Given the description of an element on the screen output the (x, y) to click on. 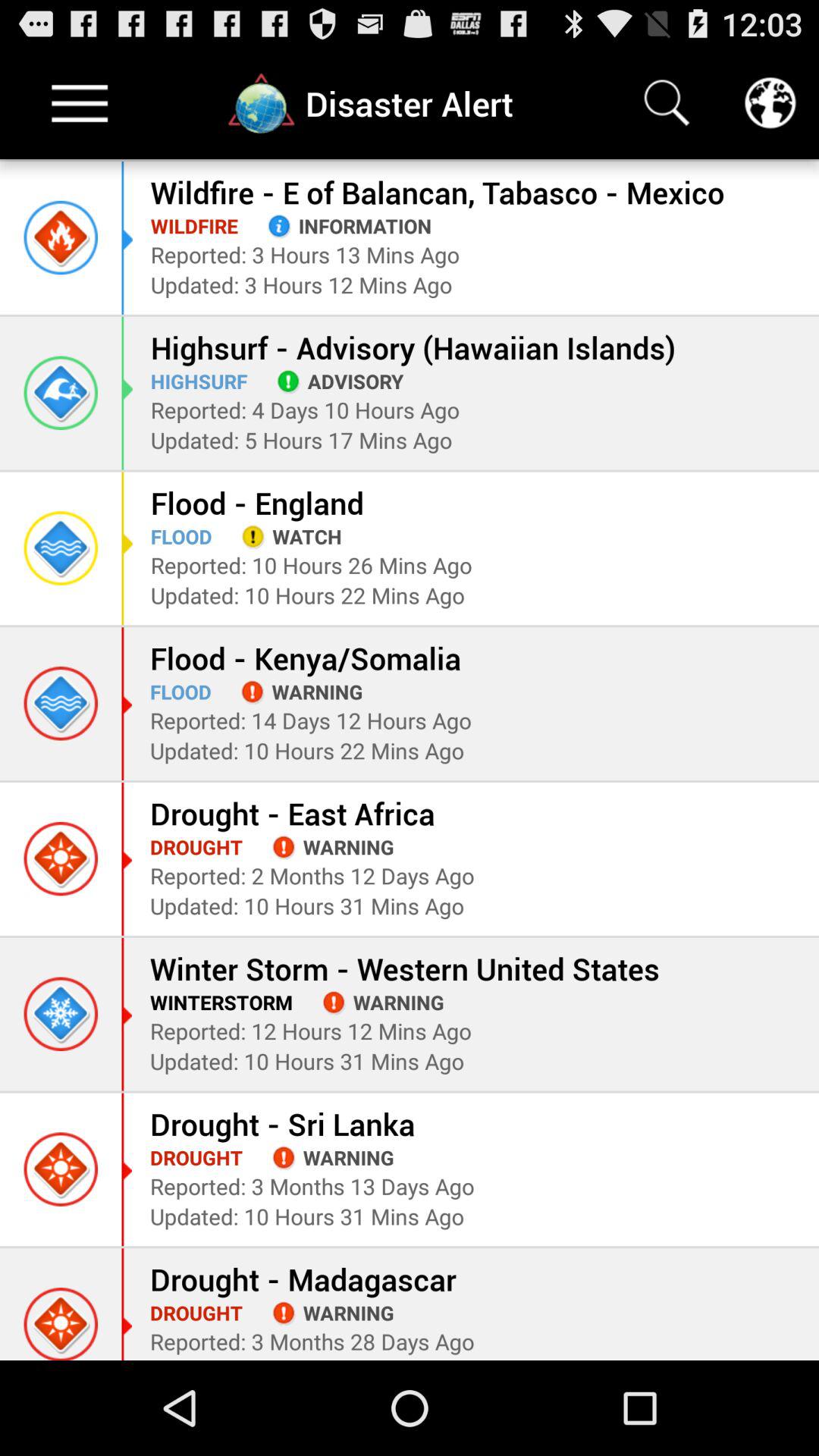
search icon (666, 102)
